Given the description of an element on the screen output the (x, y) to click on. 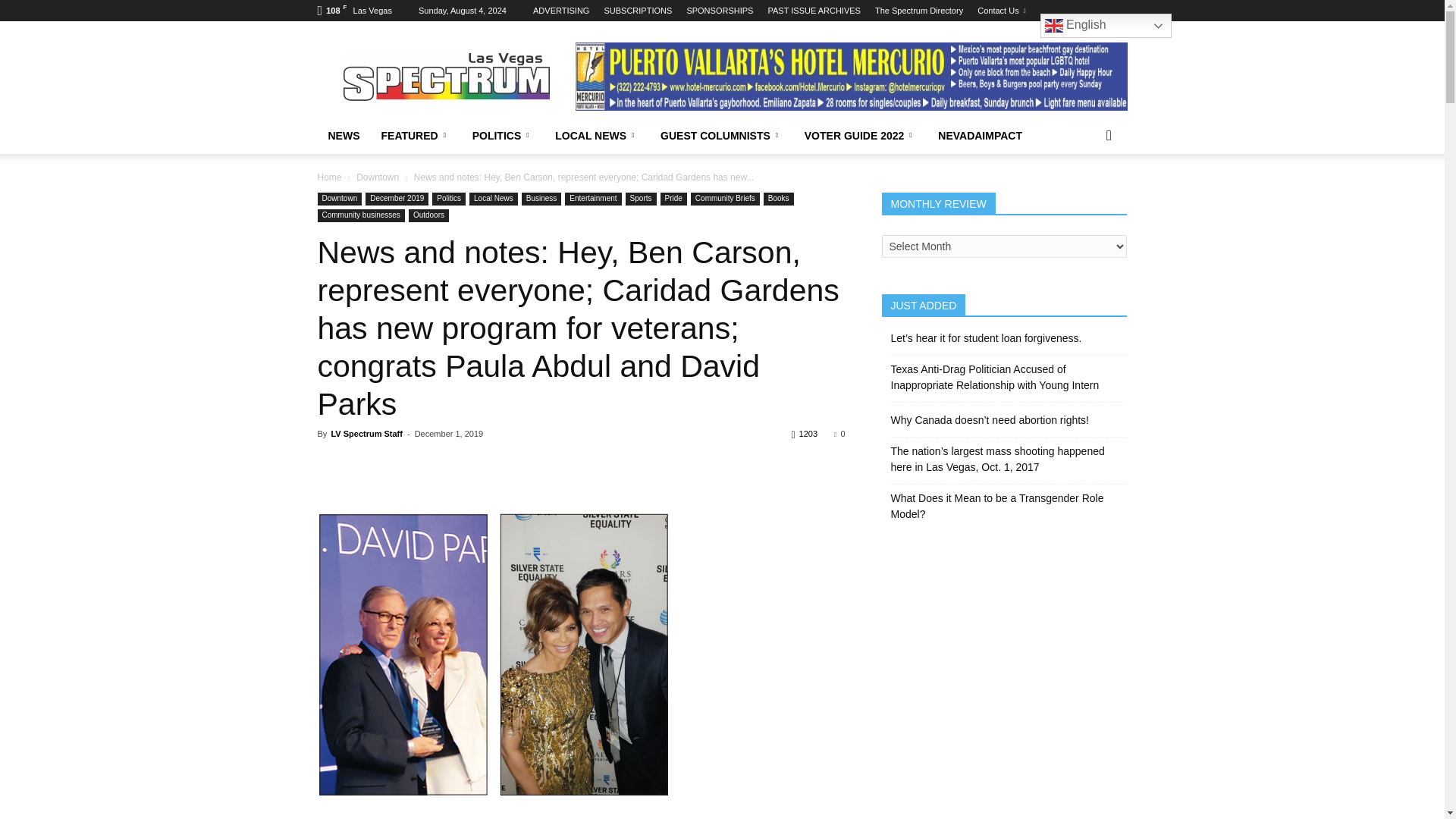
SPONSORSHIPS (718, 10)
The Spectrum Directory (918, 10)
PAST ISSUE ARCHIVES (813, 10)
ADVERTISING (560, 10)
SUBSCRIPTIONS (637, 10)
Contact Us (1000, 10)
